Given the description of an element on the screen output the (x, y) to click on. 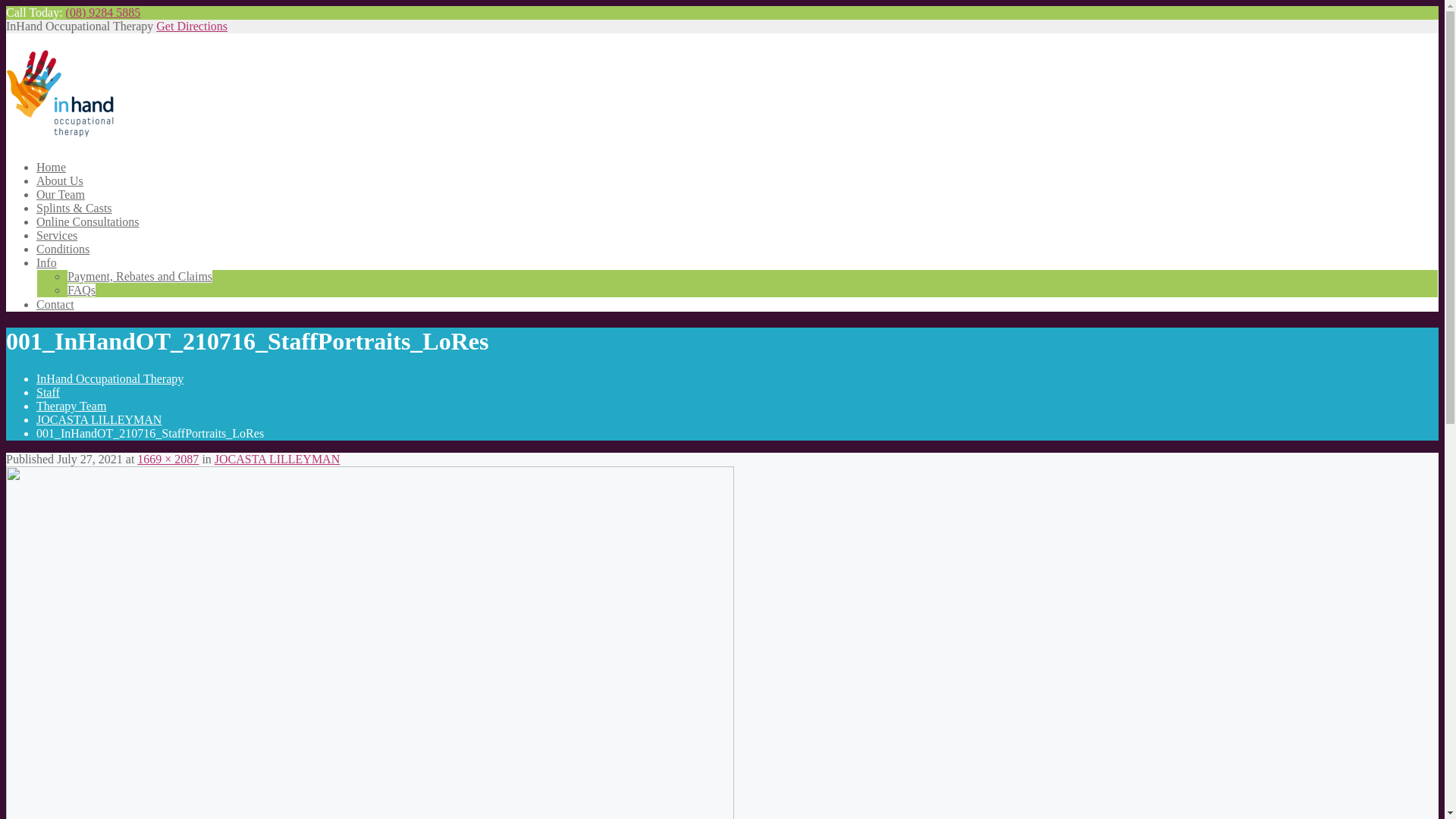
Our Team Element type: text (60, 194)
Services Element type: text (56, 235)
Payment, Rebates and Claims Element type: text (139, 275)
Home Element type: text (50, 166)
Info Element type: text (46, 262)
Staff Element type: text (47, 391)
Online Consultations Element type: text (87, 221)
About Us Element type: text (59, 180)
FAQs Element type: text (81, 289)
InHand Occupational Therapy Element type: hover (60, 129)
JOCASTA LILLEYMAN Element type: text (276, 458)
JOCASTA LILLEYMAN Element type: text (98, 419)
(08) 9284 5885 Element type: text (103, 12)
Therapy Team Element type: text (71, 405)
Splints & Casts Element type: text (74, 207)
Contact Element type: text (55, 304)
Get Directions Element type: text (191, 25)
InHand Occupational Therapy Element type: text (109, 378)
Conditions Element type: text (62, 248)
